Given the description of an element on the screen output the (x, y) to click on. 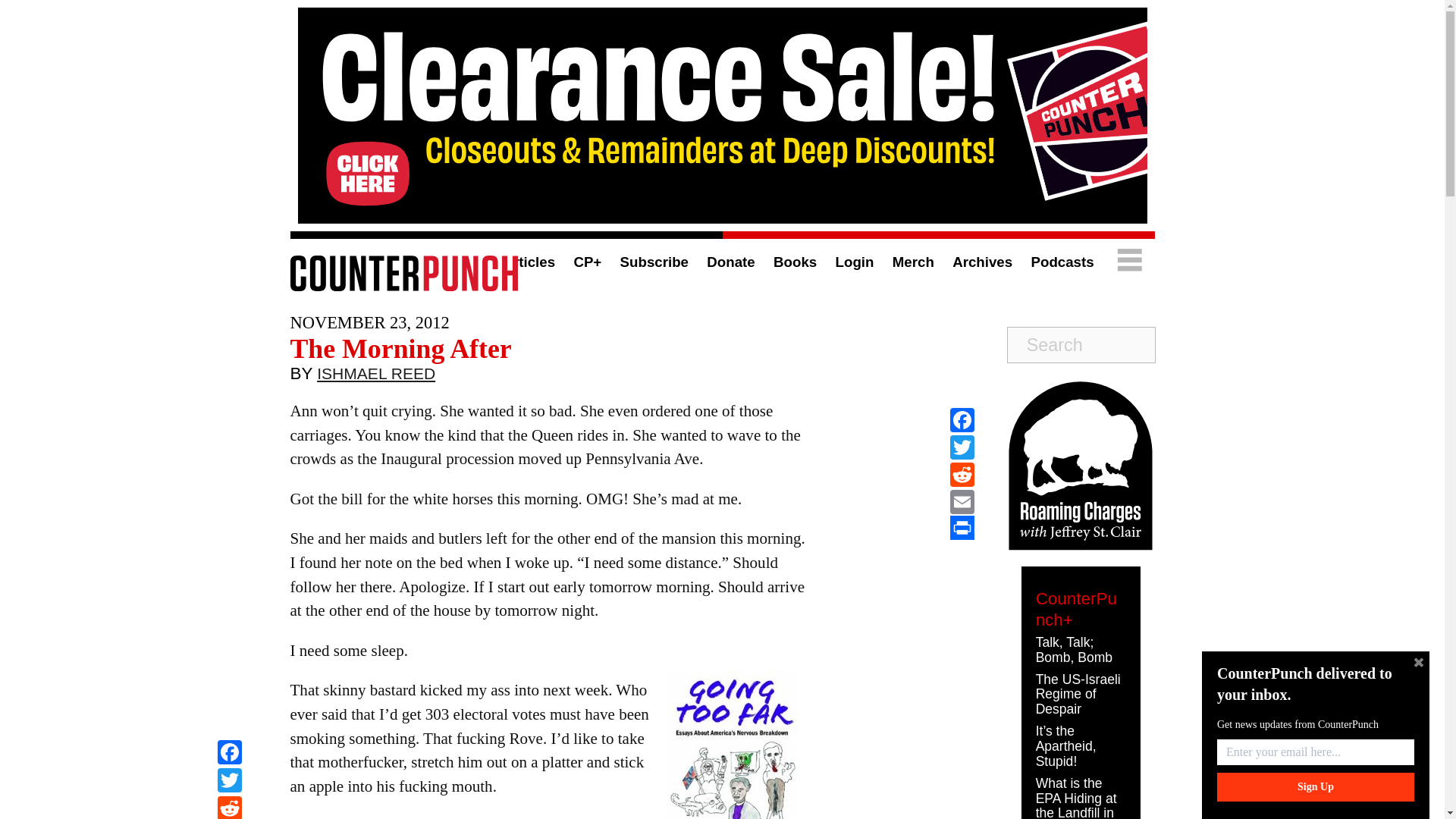
Articles (528, 261)
Close (1418, 662)
Reddit (229, 807)
Subscribe (654, 261)
Archives (981, 261)
Sign Up (1315, 787)
Email (962, 501)
What is the EPA Hiding at the Landfill in Uniontown, Ohio? (1075, 797)
Facebook (229, 754)
ISHMAEL REED (376, 376)
Login (855, 261)
Twitter (229, 782)
2012-11-23 (368, 322)
Podcasts (1061, 261)
Merch (913, 261)
